Given the description of an element on the screen output the (x, y) to click on. 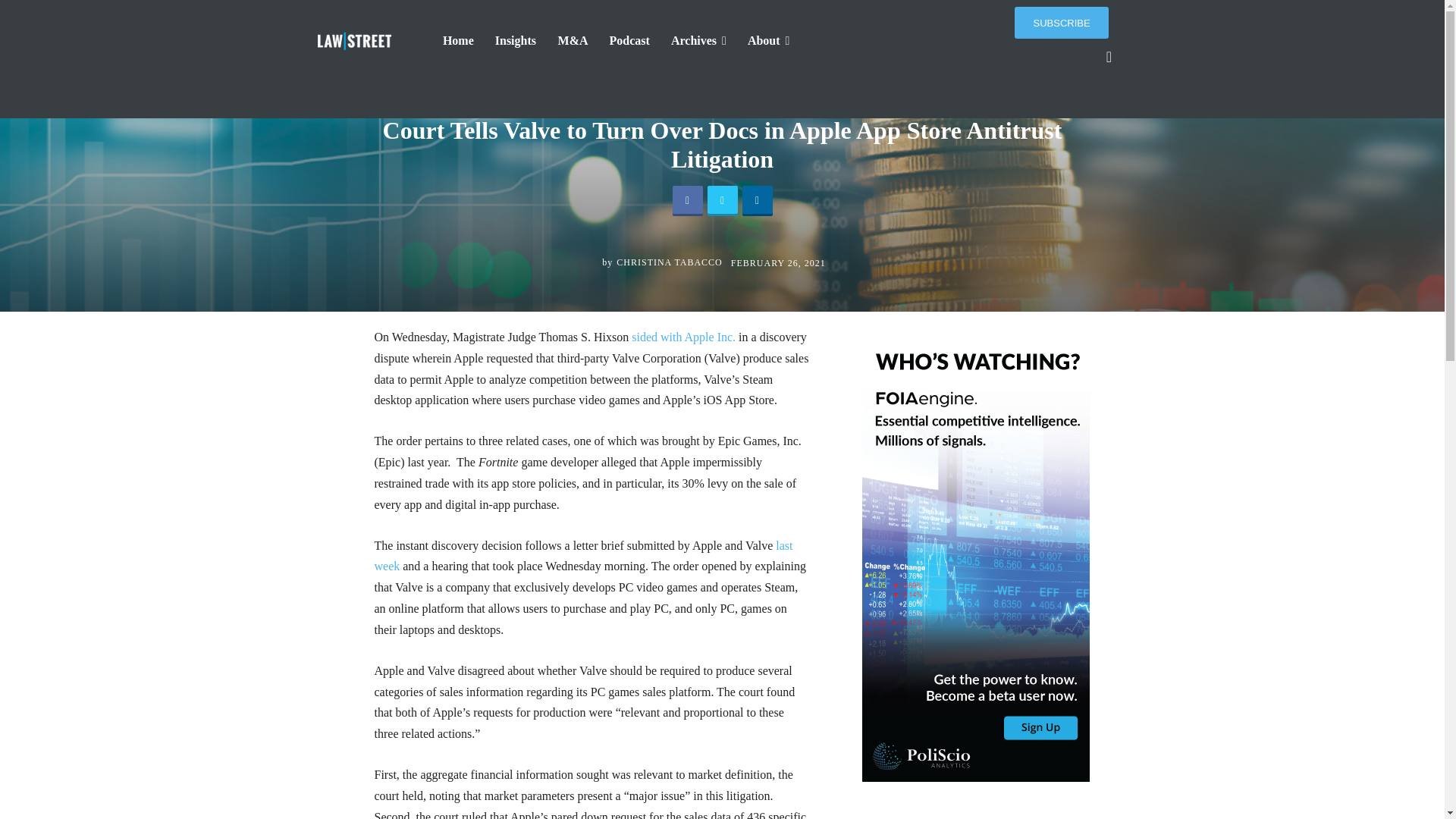
TECH (682, 68)
last week (583, 555)
Linkedin (756, 200)
Facebook (686, 200)
CHRISTINA TABACCO (668, 261)
TECH GIANTS (738, 68)
sided with Apple Inc. (681, 336)
Archives (698, 40)
Twitter (721, 200)
Subscribe (1061, 22)
